Given the description of an element on the screen output the (x, y) to click on. 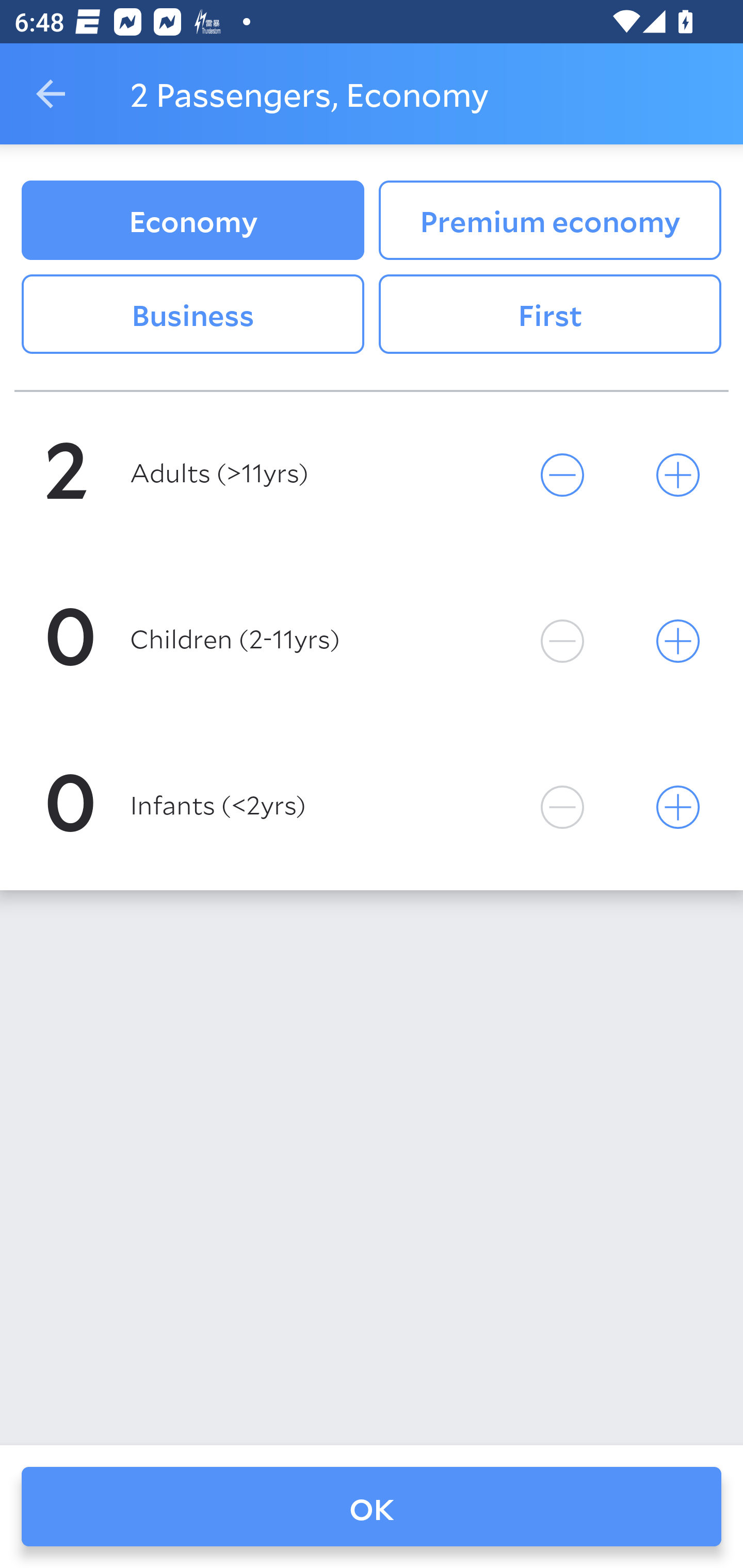
Navigate up (50, 93)
Economy (192, 220)
Premium economy (549, 220)
Business (192, 314)
First (549, 314)
OK (371, 1506)
